Given the description of an element on the screen output the (x, y) to click on. 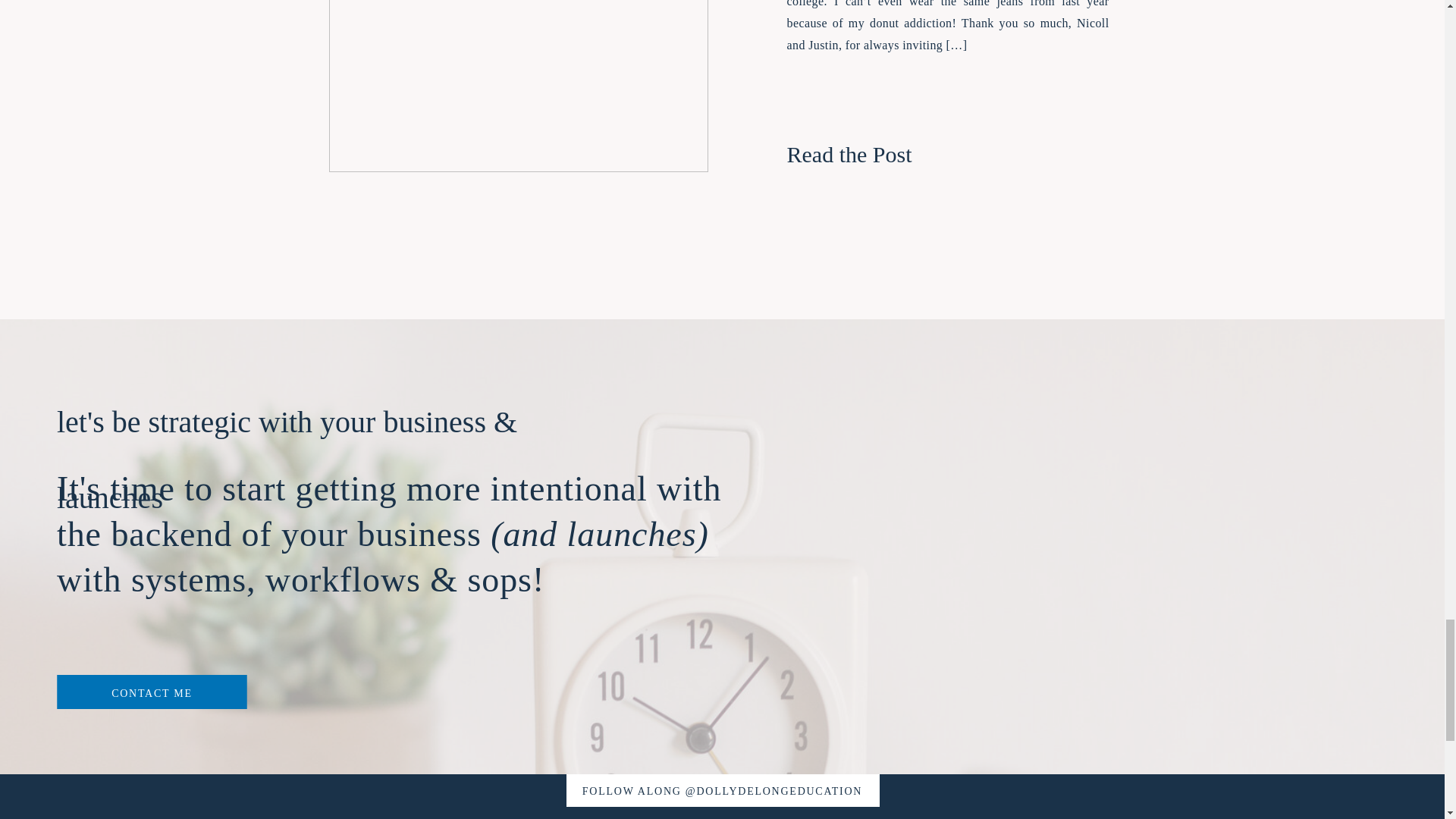
Read the Post (884, 148)
